Given the description of an element on the screen output the (x, y) to click on. 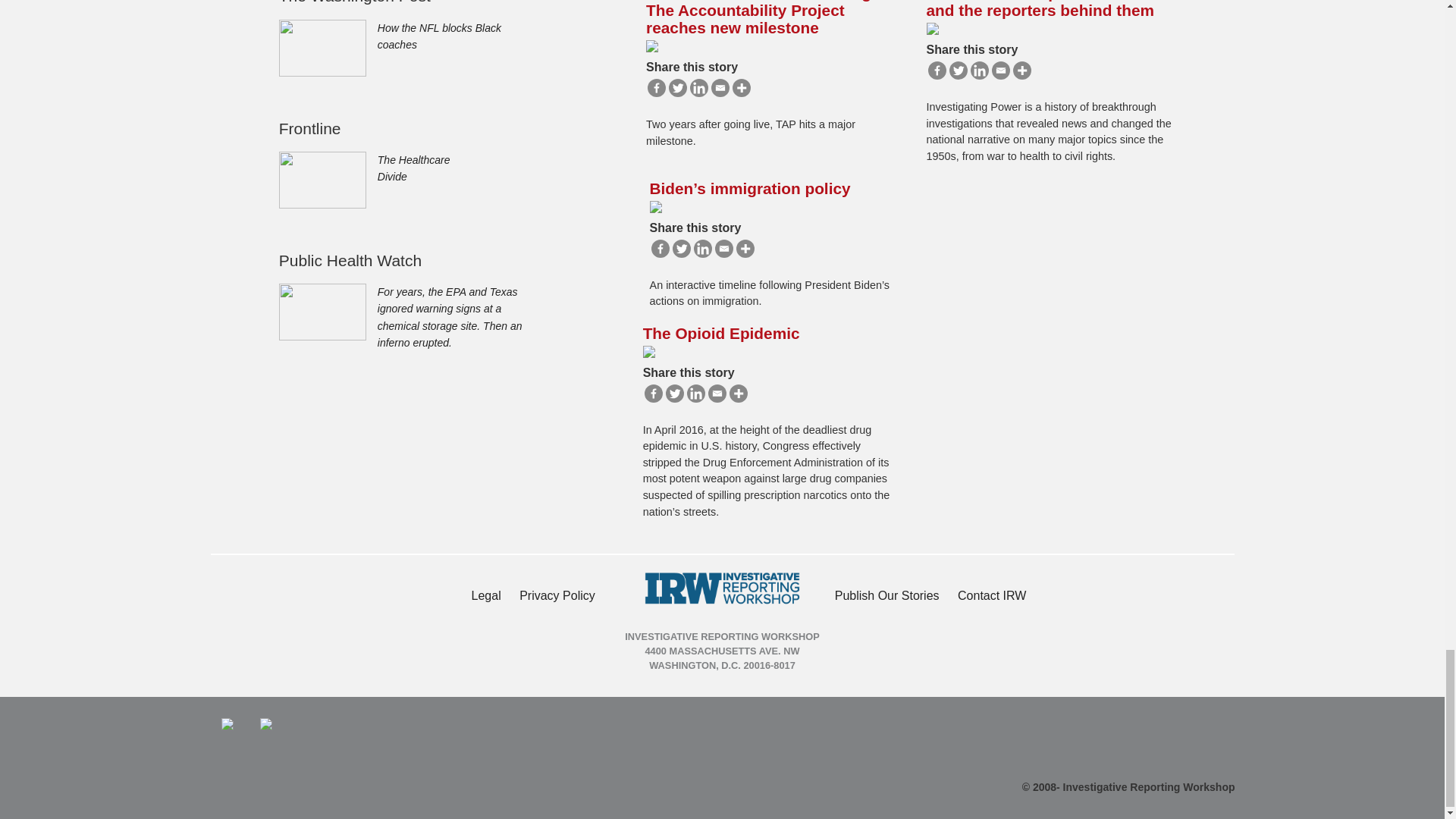
Facebook (656, 87)
Facebook (659, 248)
Email (720, 87)
Linkedin (698, 87)
Twitter (677, 87)
Facebook (937, 70)
More (741, 87)
Linkedin (979, 70)
More (1021, 70)
Twitter (958, 70)
